Given the description of an element on the screen output the (x, y) to click on. 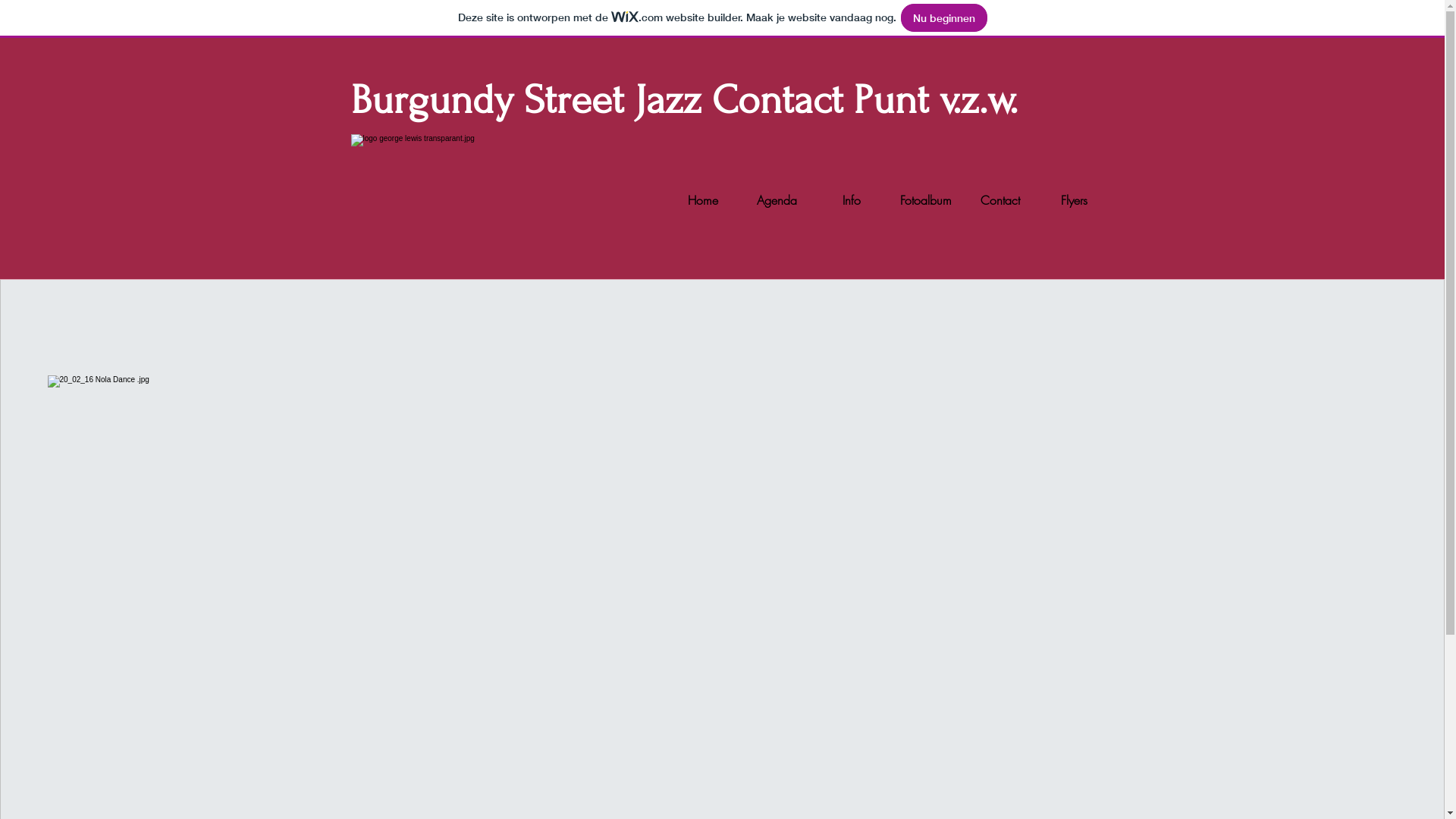
Burgundy Street Jazz Contact Punt v.z.w. Element type: text (683, 100)
Info Element type: text (851, 199)
Home Element type: text (702, 199)
Agenda Element type: text (777, 199)
Fotoalbum Element type: text (925, 199)
Contact Element type: text (1000, 199)
Flyers Element type: text (1074, 199)
